Given the description of an element on the screen output the (x, y) to click on. 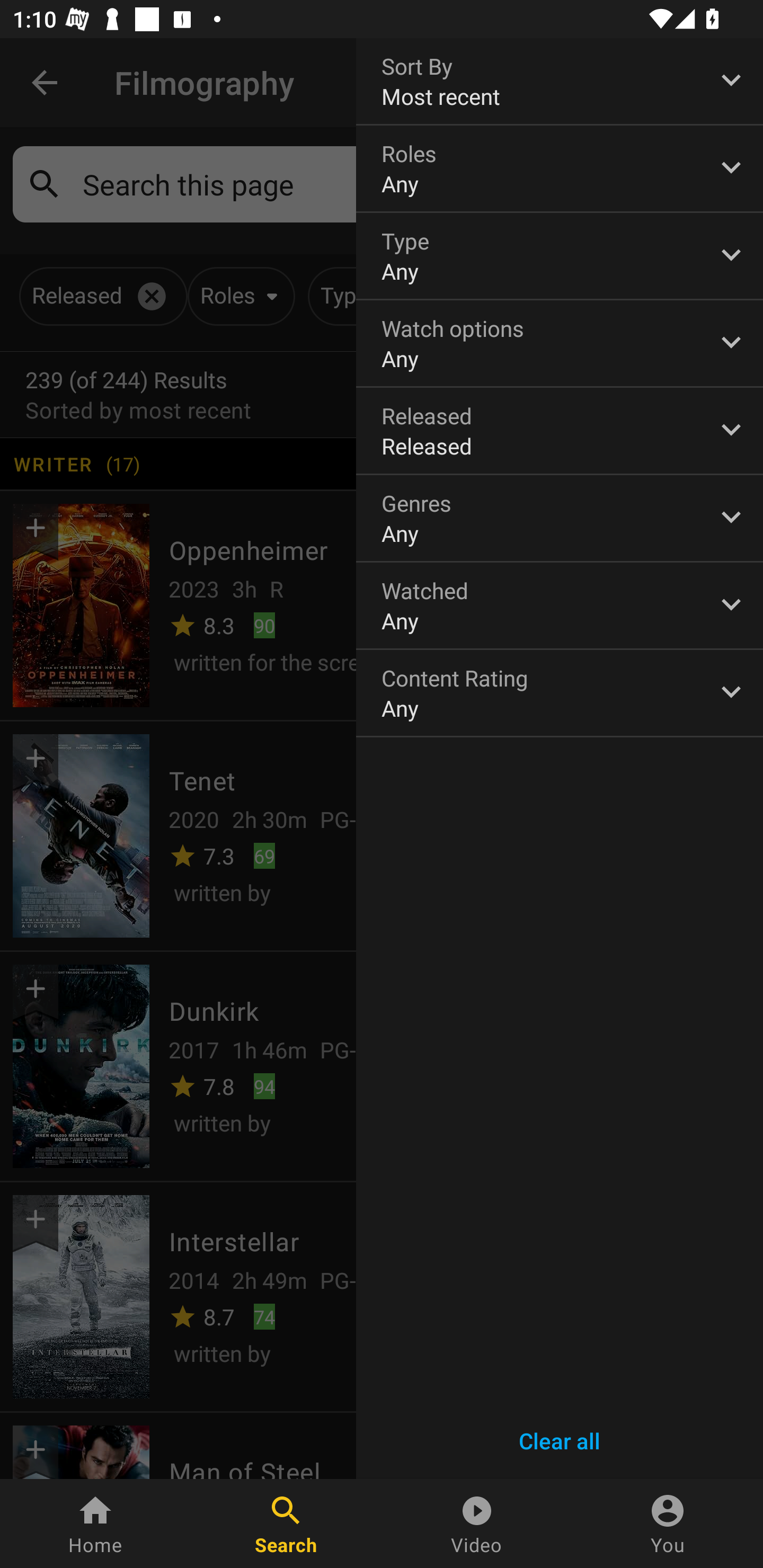
Sort By Most recent (559, 80)
Roles Any (559, 168)
Type Any (559, 256)
Watch options Any (559, 343)
Released (559, 430)
Genres Any (559, 518)
Watched Any (559, 605)
Content Rating Any (559, 692)
Home (95, 1523)
Video (476, 1523)
You (667, 1523)
